Given the description of an element on the screen output the (x, y) to click on. 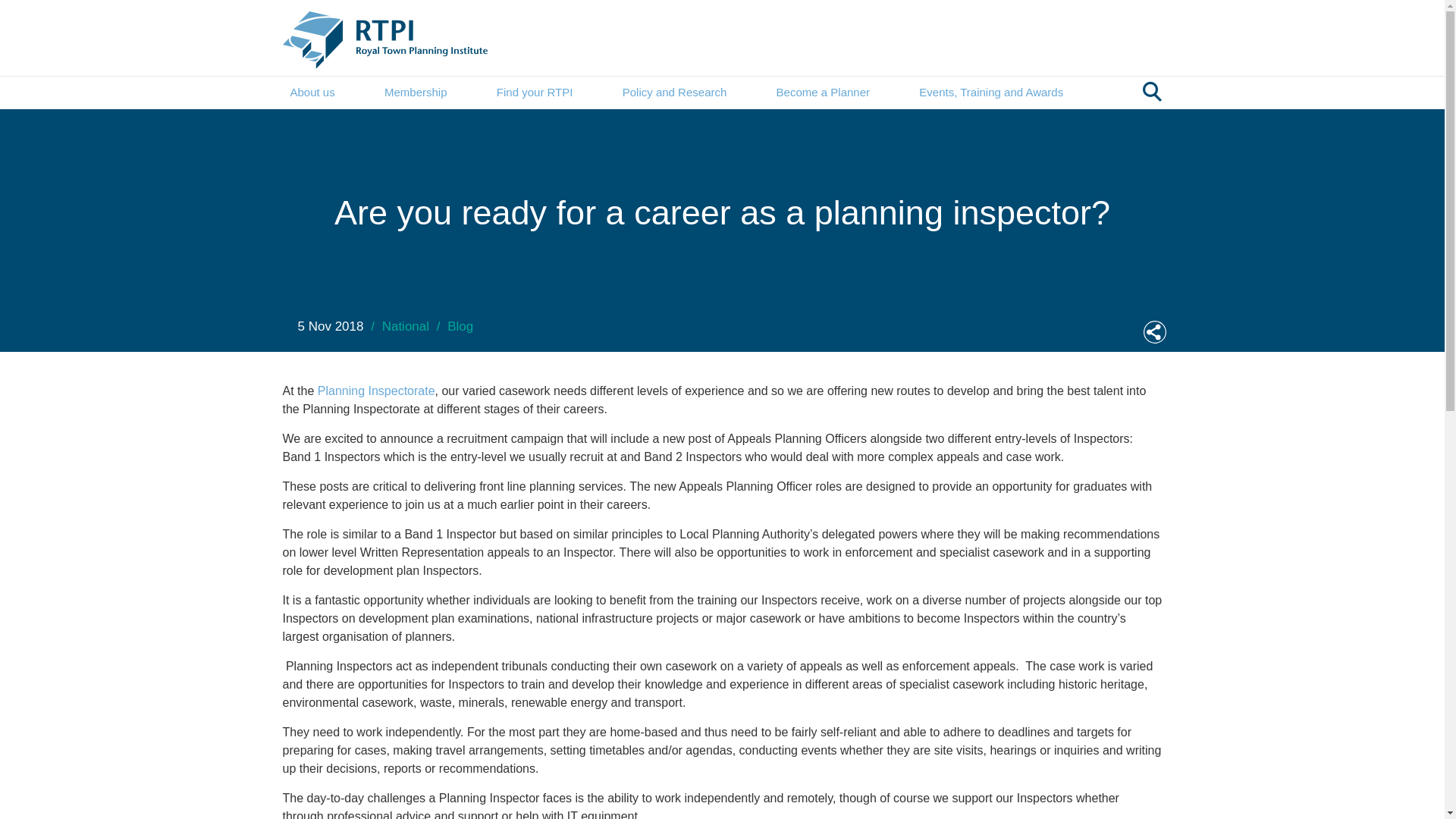
About us (311, 92)
Events, Training and Awards (990, 92)
Find your RTPI (534, 92)
Policy, Practice, and Research (674, 92)
About us (311, 92)
Become a planner (822, 92)
Membership (415, 92)
Membership (415, 92)
Find your RTPI (534, 92)
